Given the description of an element on the screen output the (x, y) to click on. 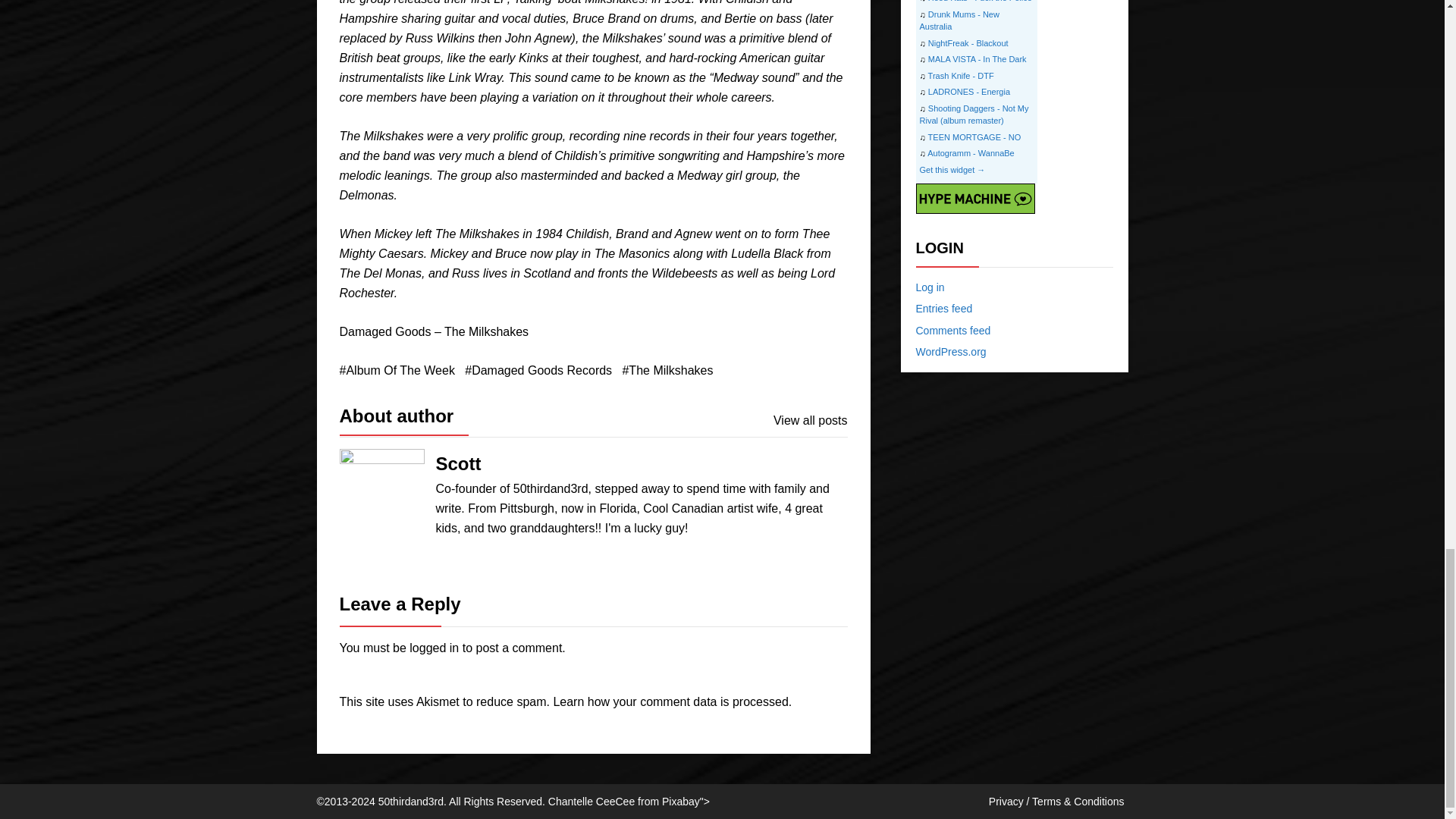
Log in (929, 287)
MALA VISTA - In The Dark (977, 58)
Damaged Goods Records (537, 370)
Drunk Mums - New Australia (958, 20)
LADRONES - Energia (969, 91)
The Milkshakes (667, 370)
Trash Knife - DTF (961, 75)
TEEN MORTGAGE - NO (975, 135)
Autogramm - WannaBe (970, 153)
Learn how your comment data is processed (670, 701)
Entries feed (943, 308)
Comments feed (953, 330)
Album Of The Week (396, 370)
NightFreak - Blackout (968, 41)
Hood Rats - Fuck the Police (980, 1)
